Given the description of an element on the screen output the (x, y) to click on. 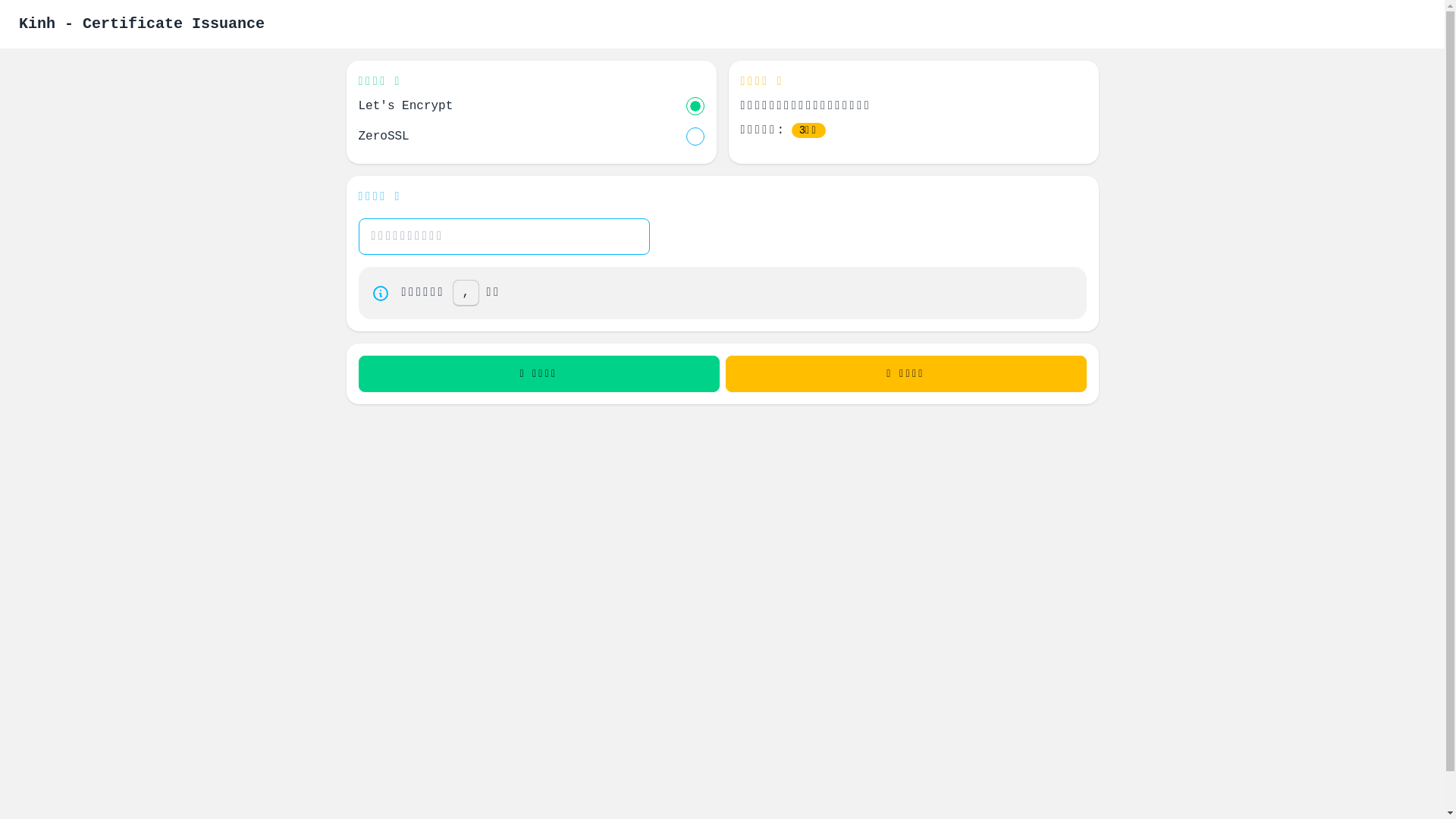
Kinh - Certificate Issuance Element type: text (141, 24)
